Given the description of an element on the screen output the (x, y) to click on. 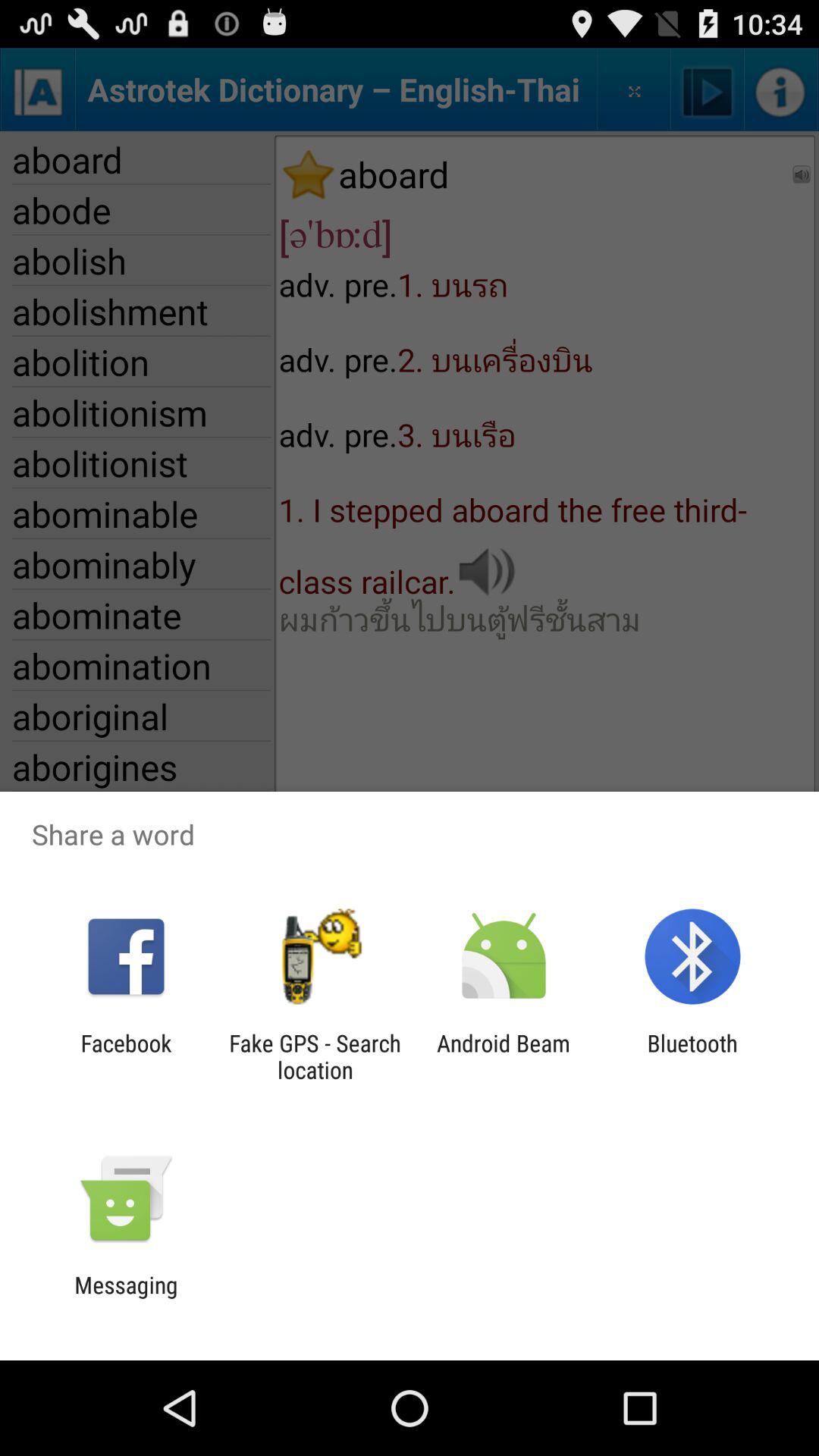
turn on the messaging app (126, 1298)
